Given the description of an element on the screen output the (x, y) to click on. 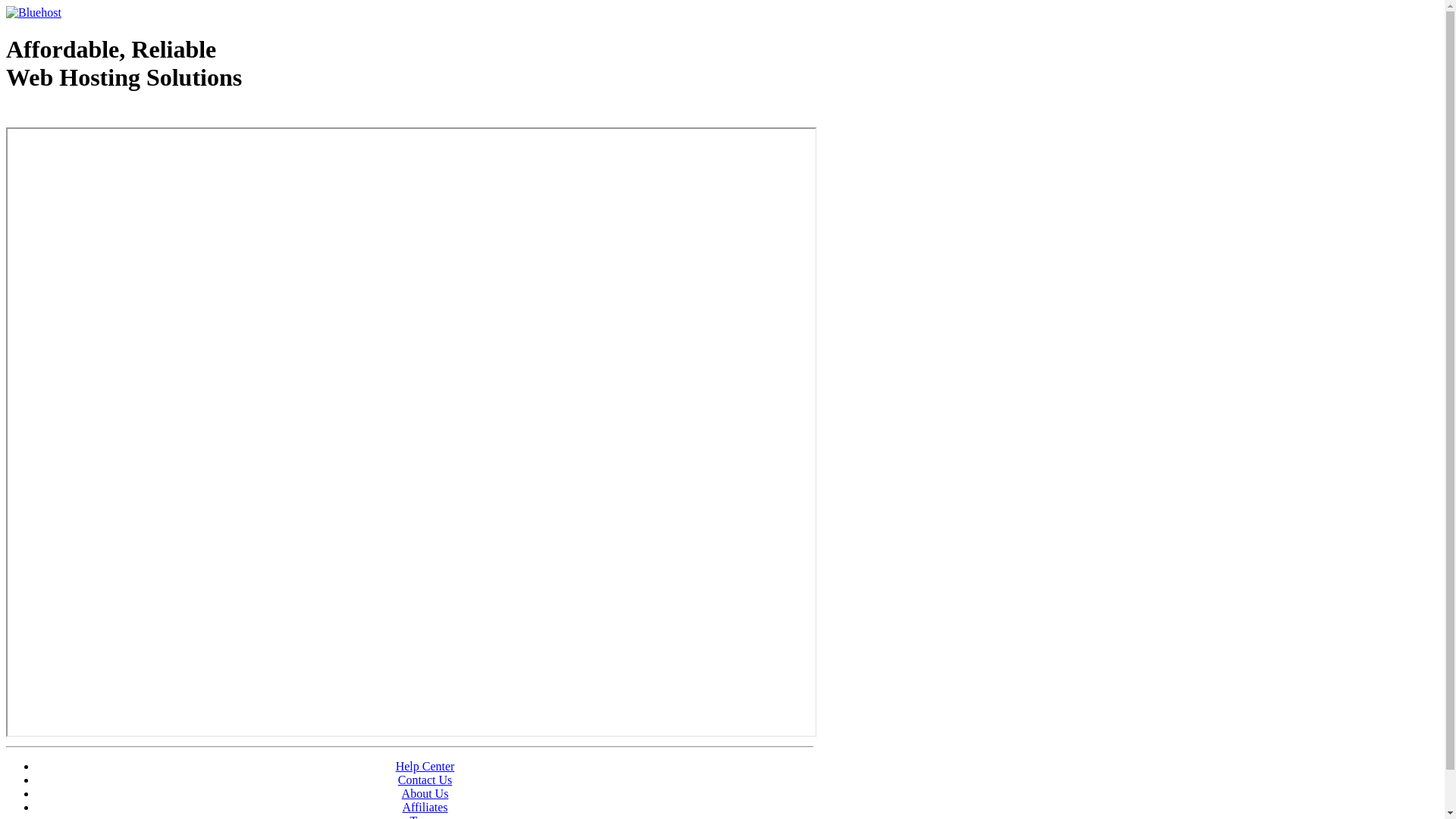
About Us Element type: text (424, 793)
Help Center Element type: text (425, 765)
Contact Us Element type: text (425, 779)
Affiliates Element type: text (424, 806)
Web Hosting - courtesy of www.bluehost.com Element type: text (94, 115)
